Given the description of an element on the screen output the (x, y) to click on. 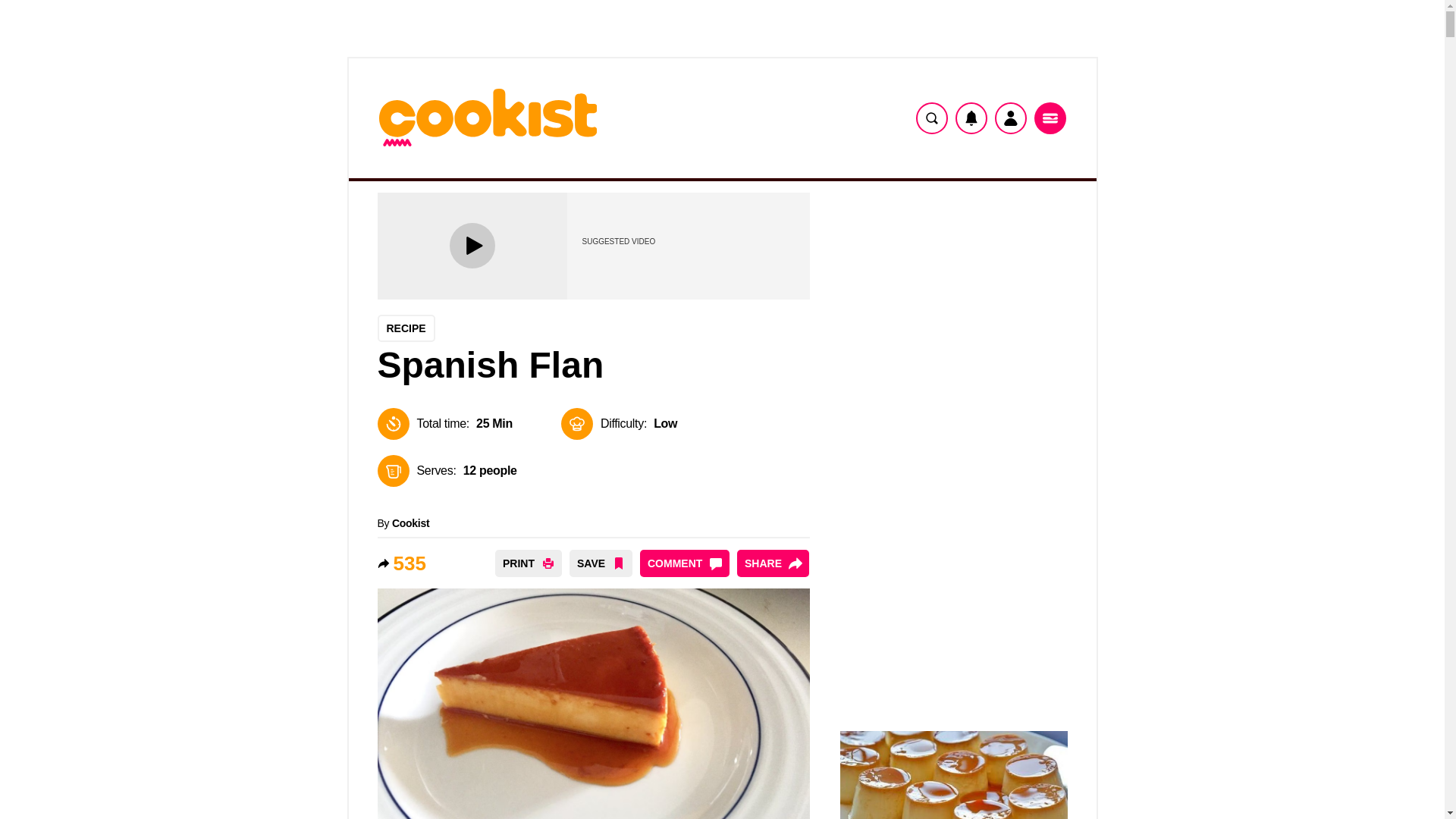
Cookist (410, 522)
COMMENT (684, 563)
PRINT (528, 563)
SHARE (772, 563)
SAVE (600, 563)
